Given the description of an element on the screen output the (x, y) to click on. 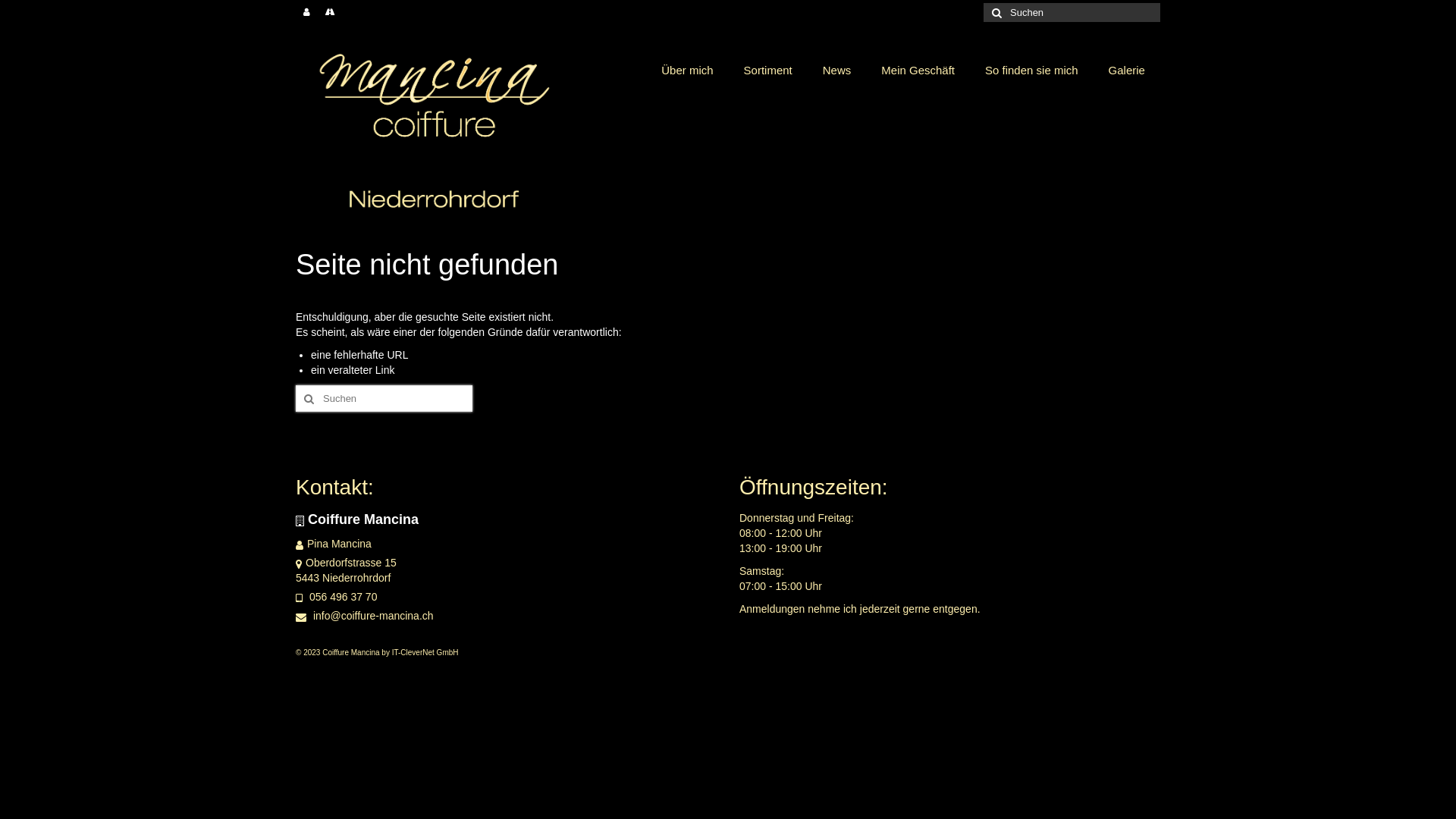
So finden sie mich Element type: text (1031, 70)
News Element type: text (836, 70)
info@coiffure-mancina.ch Element type: text (364, 615)
Galerie Element type: text (1126, 70)
IT-CleverNet GmbH Element type: text (425, 652)
Sortiment Element type: text (767, 70)
